Given the description of an element on the screen output the (x, y) to click on. 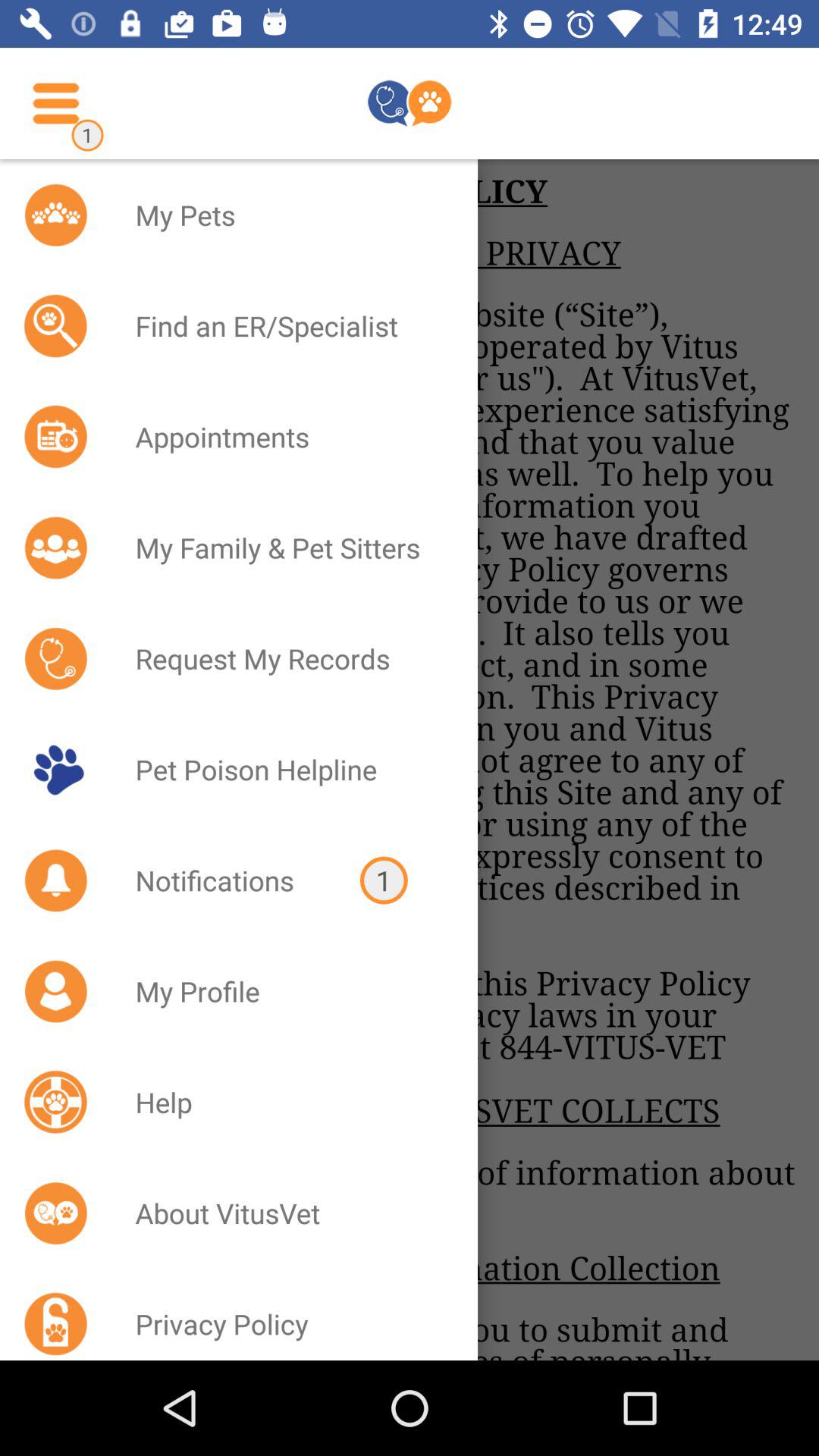
launch the about vitusvet (286, 1212)
